Given the description of an element on the screen output the (x, y) to click on. 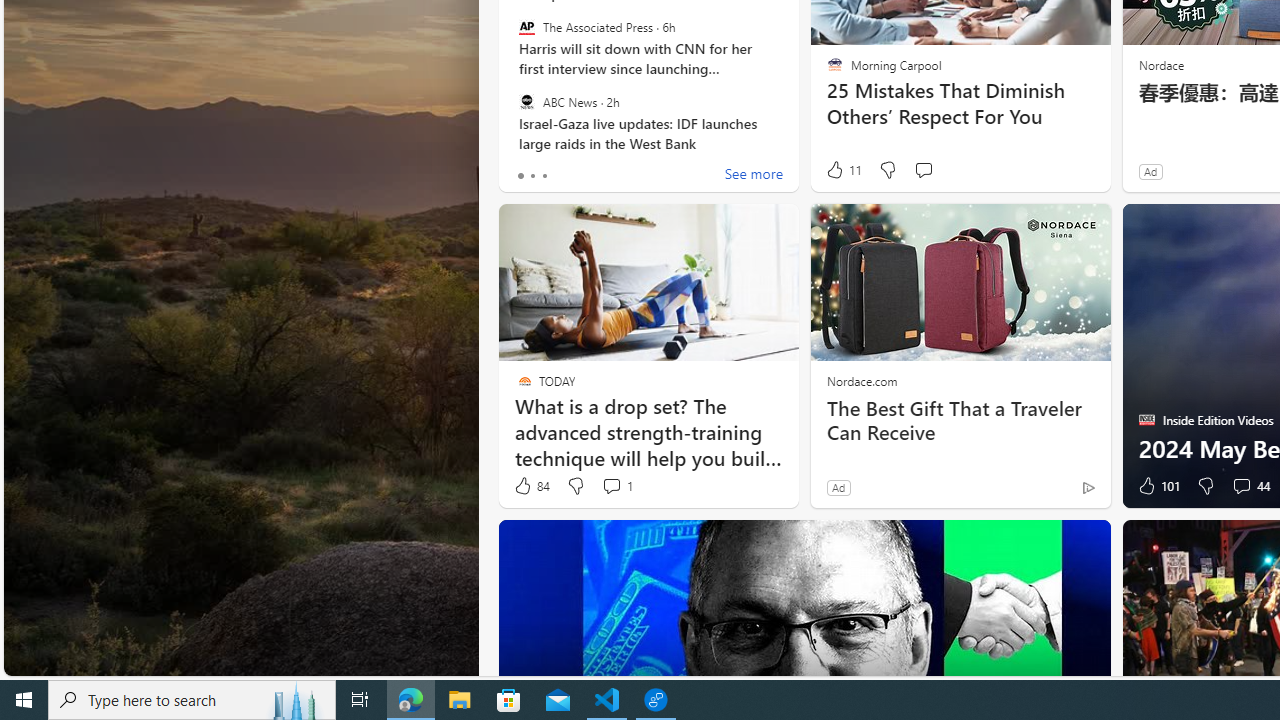
Ad (838, 487)
ABC News (526, 101)
View comments 44 Comment (1241, 485)
The Associated Press (526, 27)
See more (753, 175)
Start the conversation (923, 169)
View comments 1 Comment (616, 485)
